Given the description of an element on the screen output the (x, y) to click on. 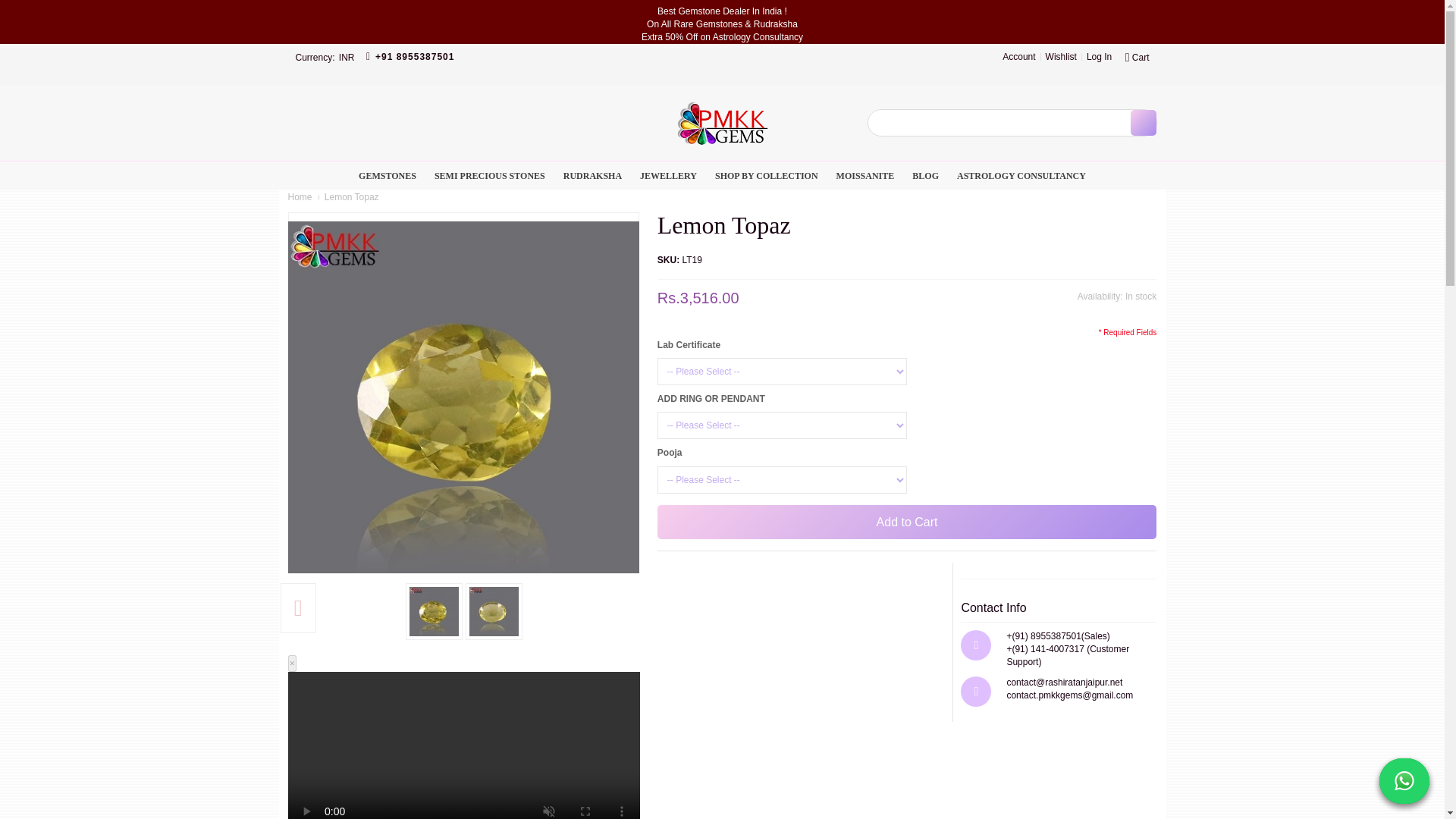
GEMSTONES (387, 175)
Currency: INR (325, 56)
Add to Cart (907, 521)
Log In (1098, 56)
Wishlist (1061, 56)
Log In (1098, 56)
Rashi Ratan Jaipur (721, 122)
Cart (1136, 56)
Account (1019, 56)
customer support (410, 56)
Search (1142, 122)
Account (1019, 56)
Wishlist (1061, 56)
Lemon Topaz (464, 397)
Go to Home Page (300, 196)
